Given the description of an element on the screen output the (x, y) to click on. 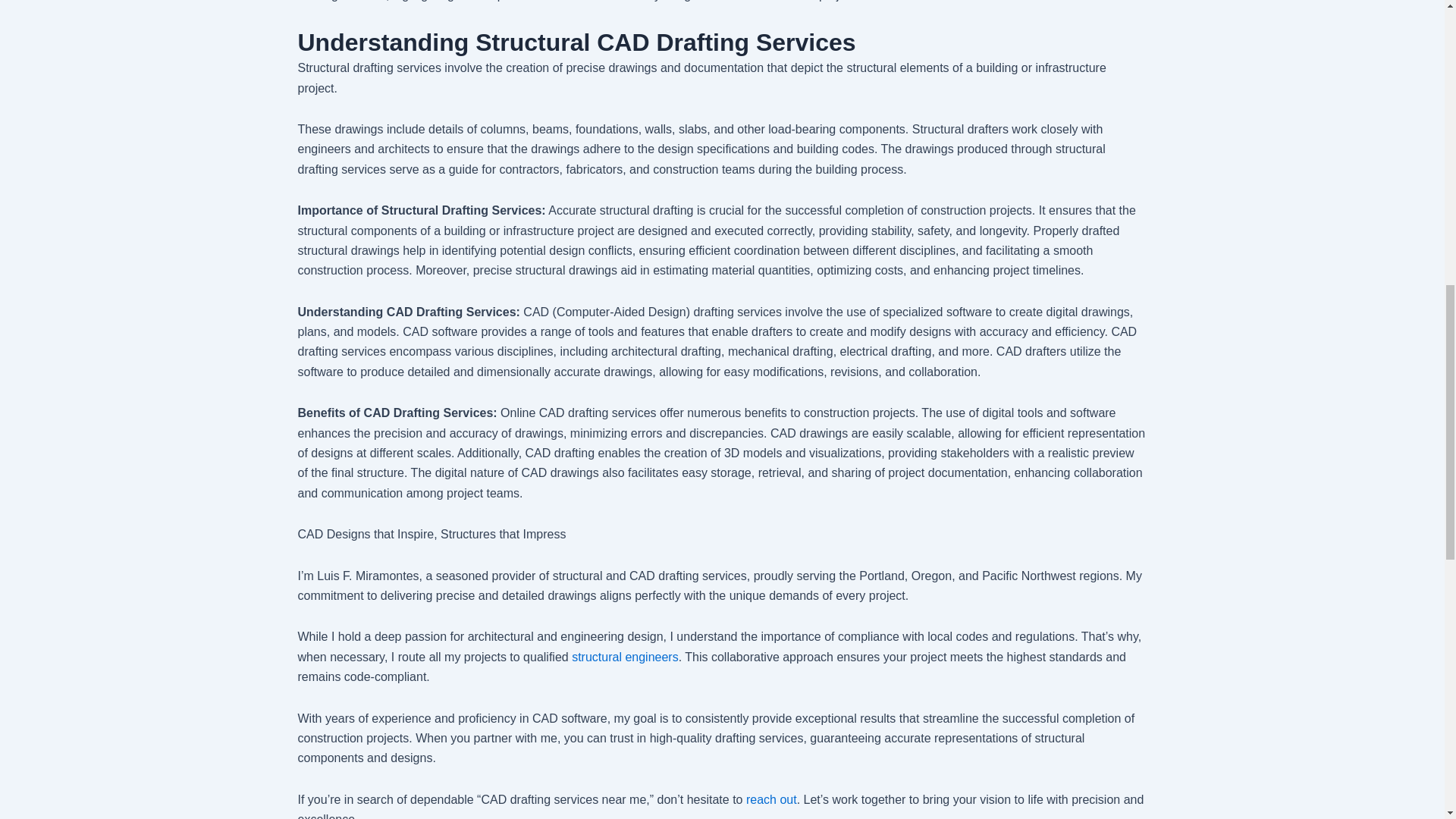
reach out (770, 799)
structural engineers (625, 656)
Contact Us (770, 799)
